Given the description of an element on the screen output the (x, y) to click on. 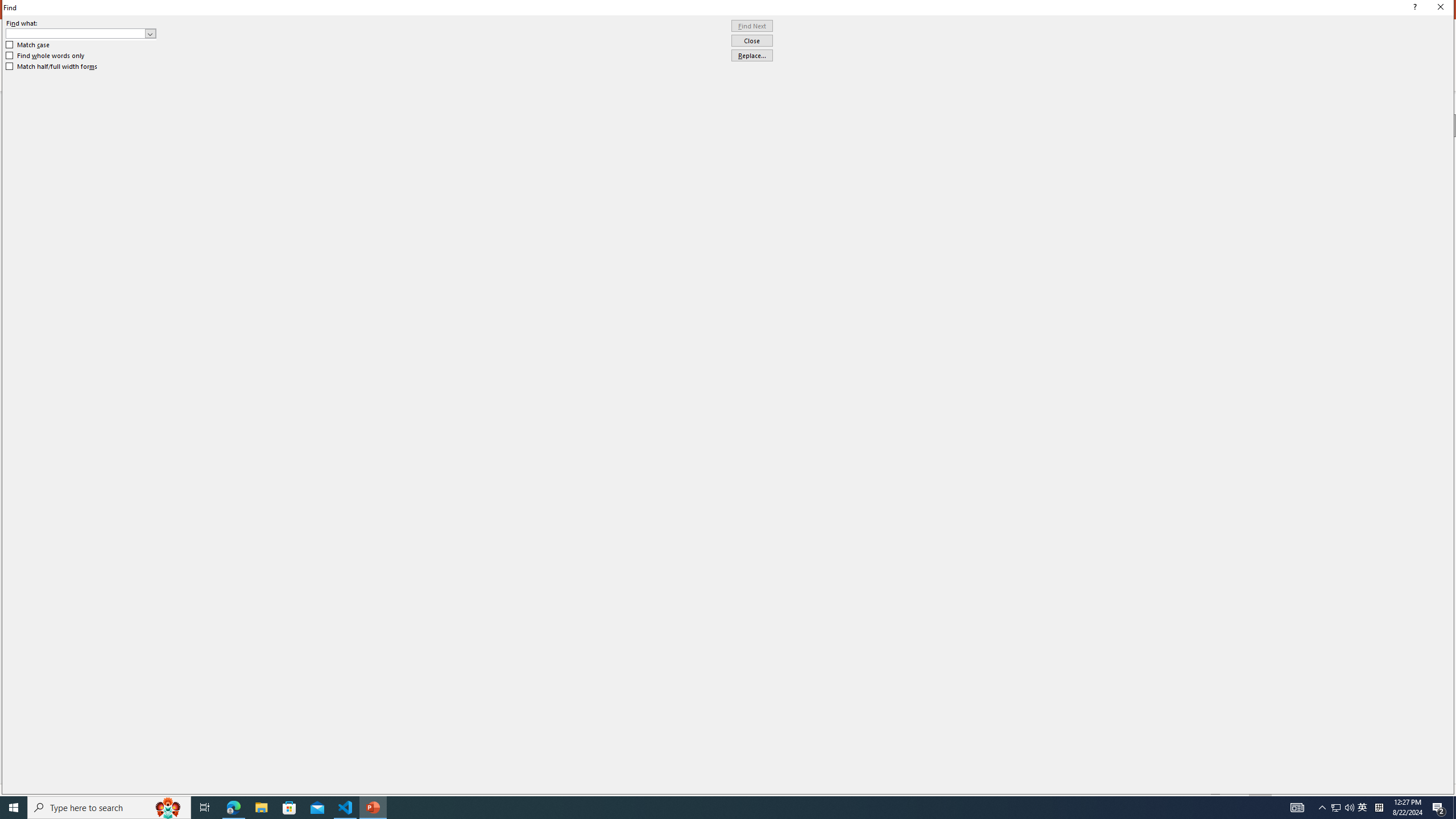
Find whole words only (45, 55)
Match half/full width forms (52, 66)
Find what (80, 33)
Find what (75, 33)
Match case (27, 44)
Find Next (751, 25)
